Given the description of an element on the screen output the (x, y) to click on. 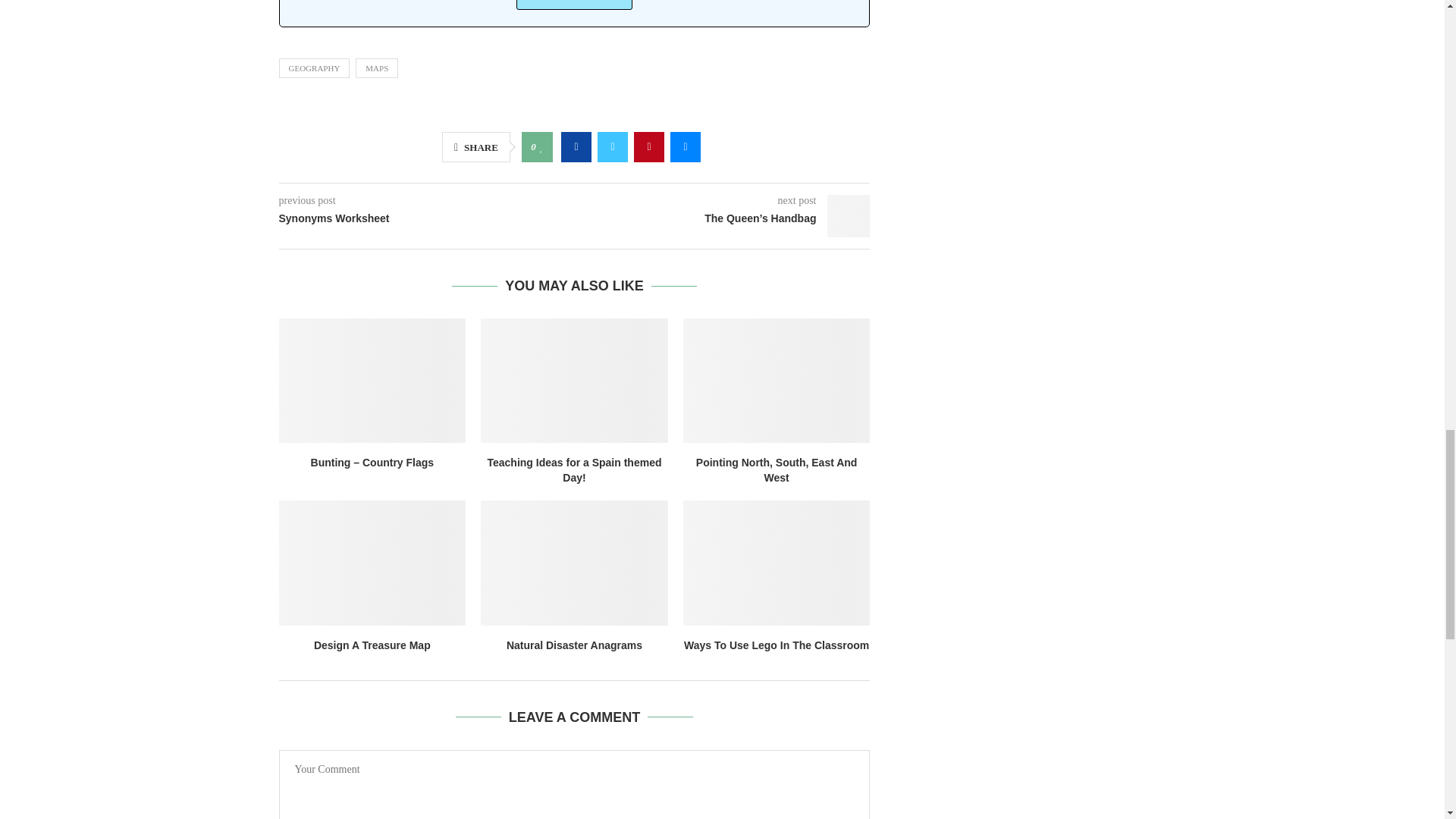
Pointing North, South, East And West (776, 380)
Design A Treasure Map (372, 562)
Ways To Use Lego In The Classroom (776, 562)
Natural Disaster Anagrams (574, 562)
Teaching Ideas for a Spain themed Day! (574, 380)
